Given the description of an element on the screen output the (x, y) to click on. 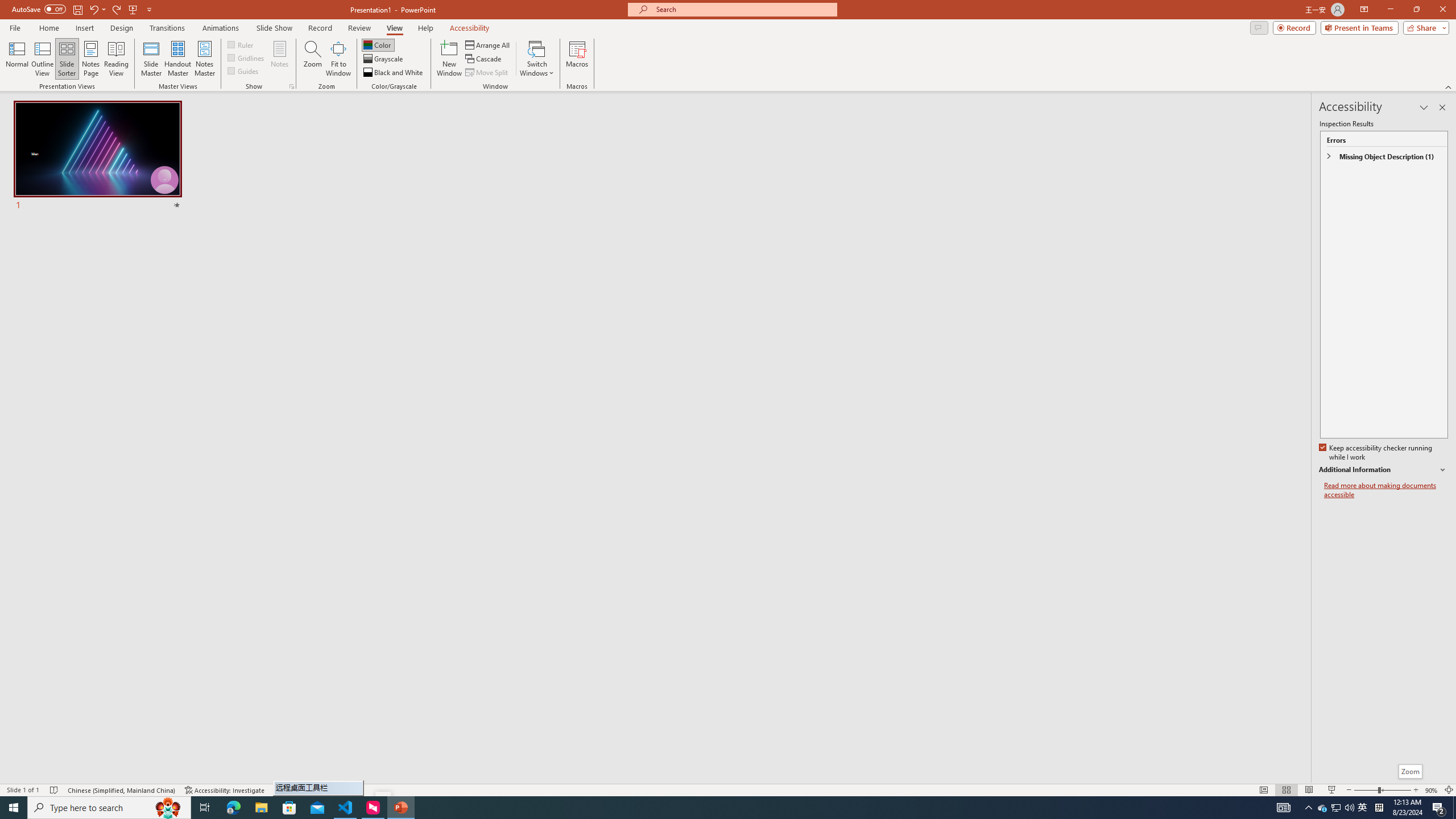
Notes Page (90, 58)
Move Split (487, 72)
Grid Settings... (291, 85)
Color (377, 44)
